Given the description of an element on the screen output the (x, y) to click on. 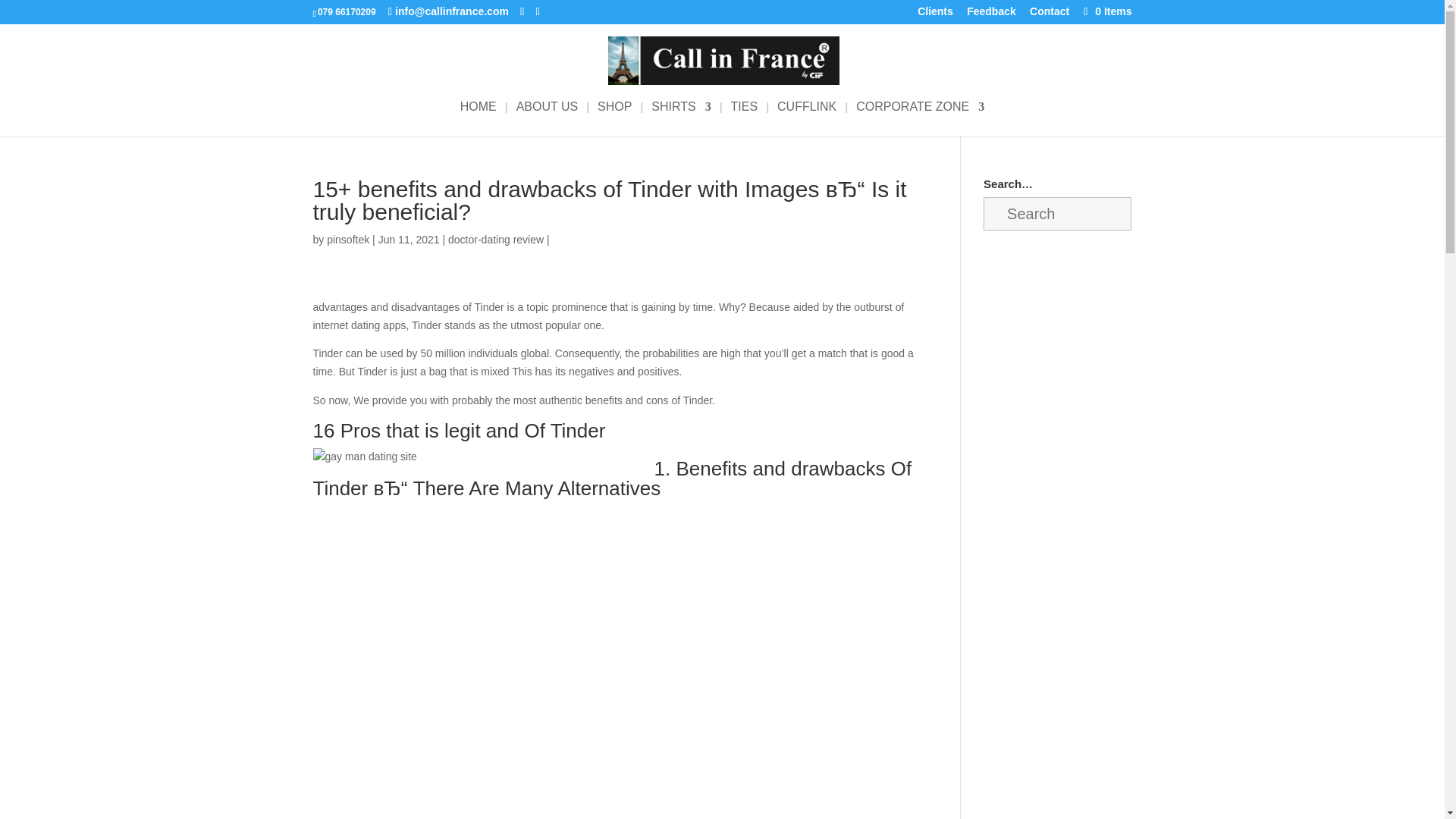
SHIRTS (680, 118)
Posts by pinsoftek (347, 239)
Feedback (991, 15)
HOME (478, 118)
Clients (935, 15)
ABOUT US (547, 118)
pinsoftek (347, 239)
CORPORATE ZONE (920, 118)
CUFFLINK (806, 118)
SHOP (613, 118)
